Given the description of an element on the screen output the (x, y) to click on. 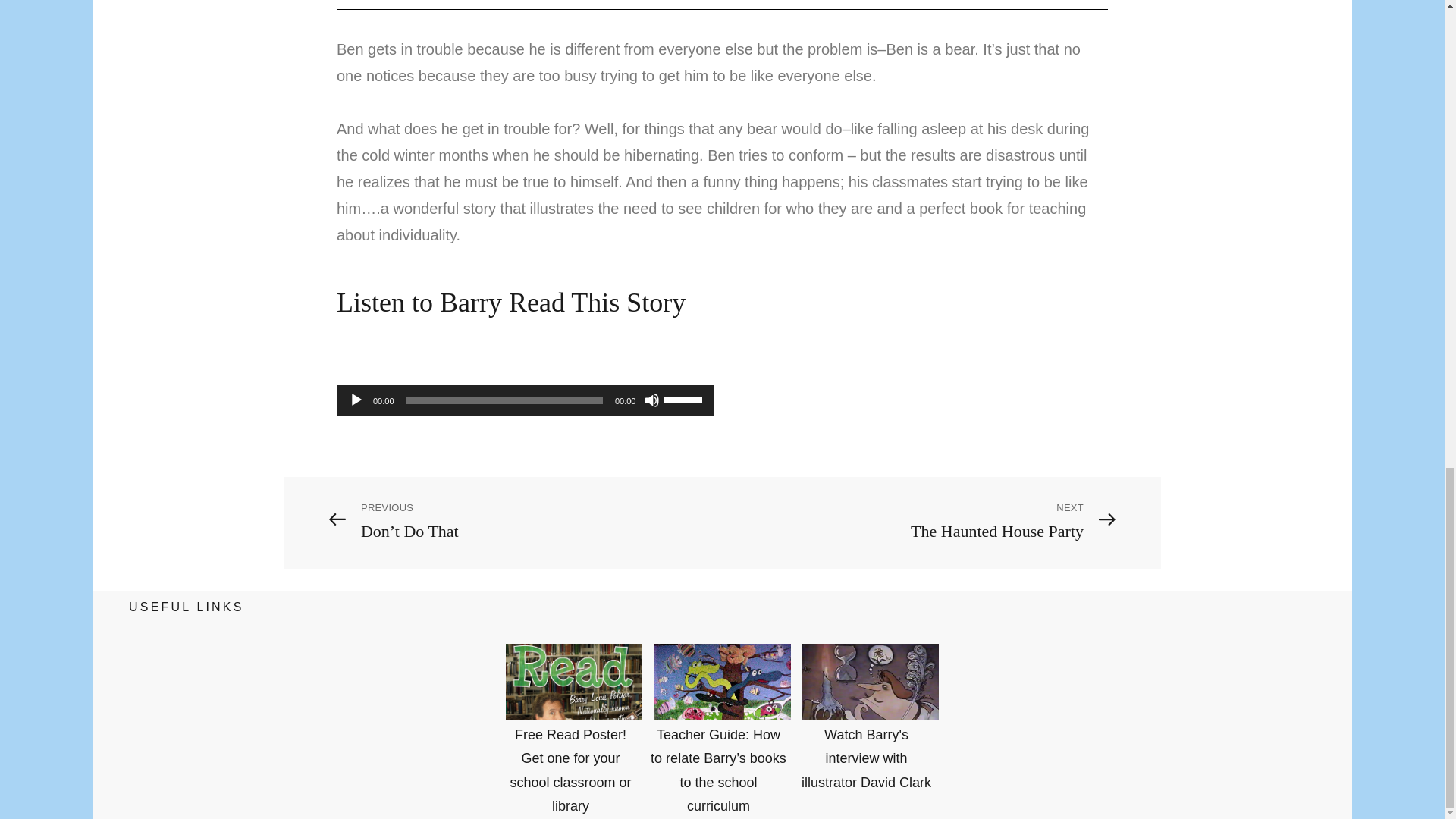
Mute (652, 400)
Play (356, 400)
